Given the description of an element on the screen output the (x, y) to click on. 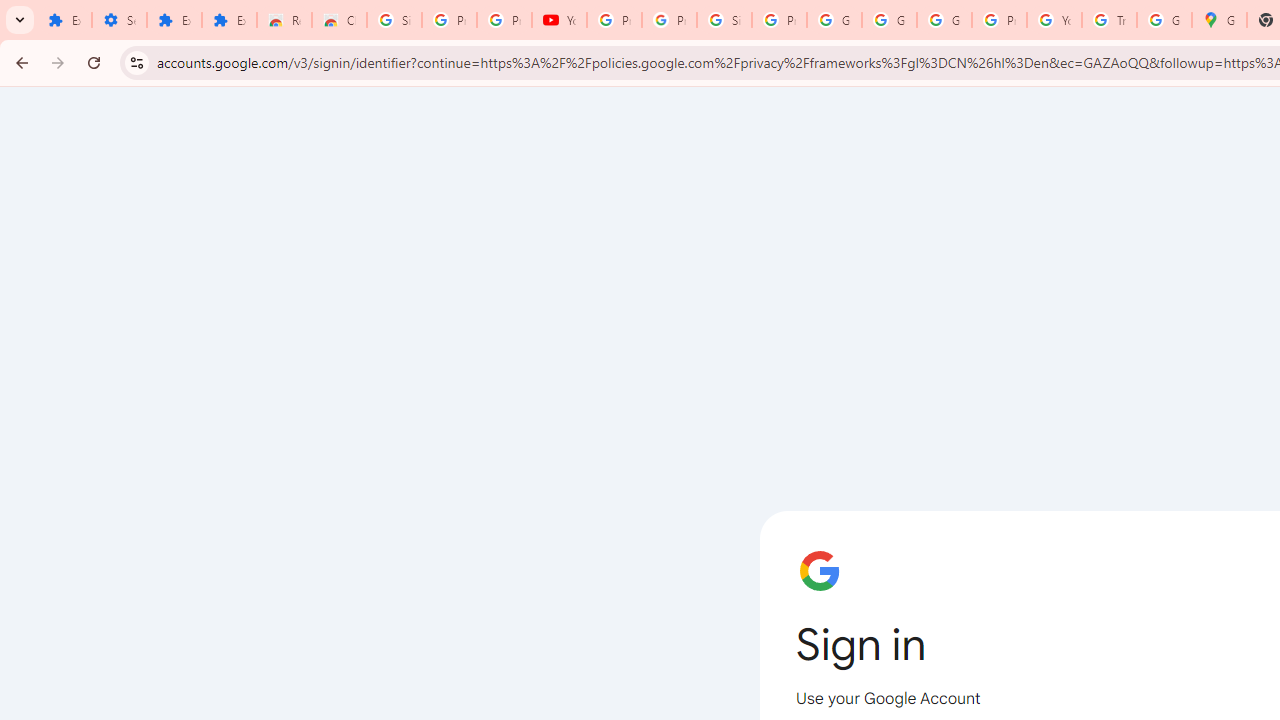
Chrome Web Store - Themes (339, 20)
Google Account (888, 20)
Google Account (833, 20)
Sign in - Google Accounts (394, 20)
